Given the description of an element on the screen output the (x, y) to click on. 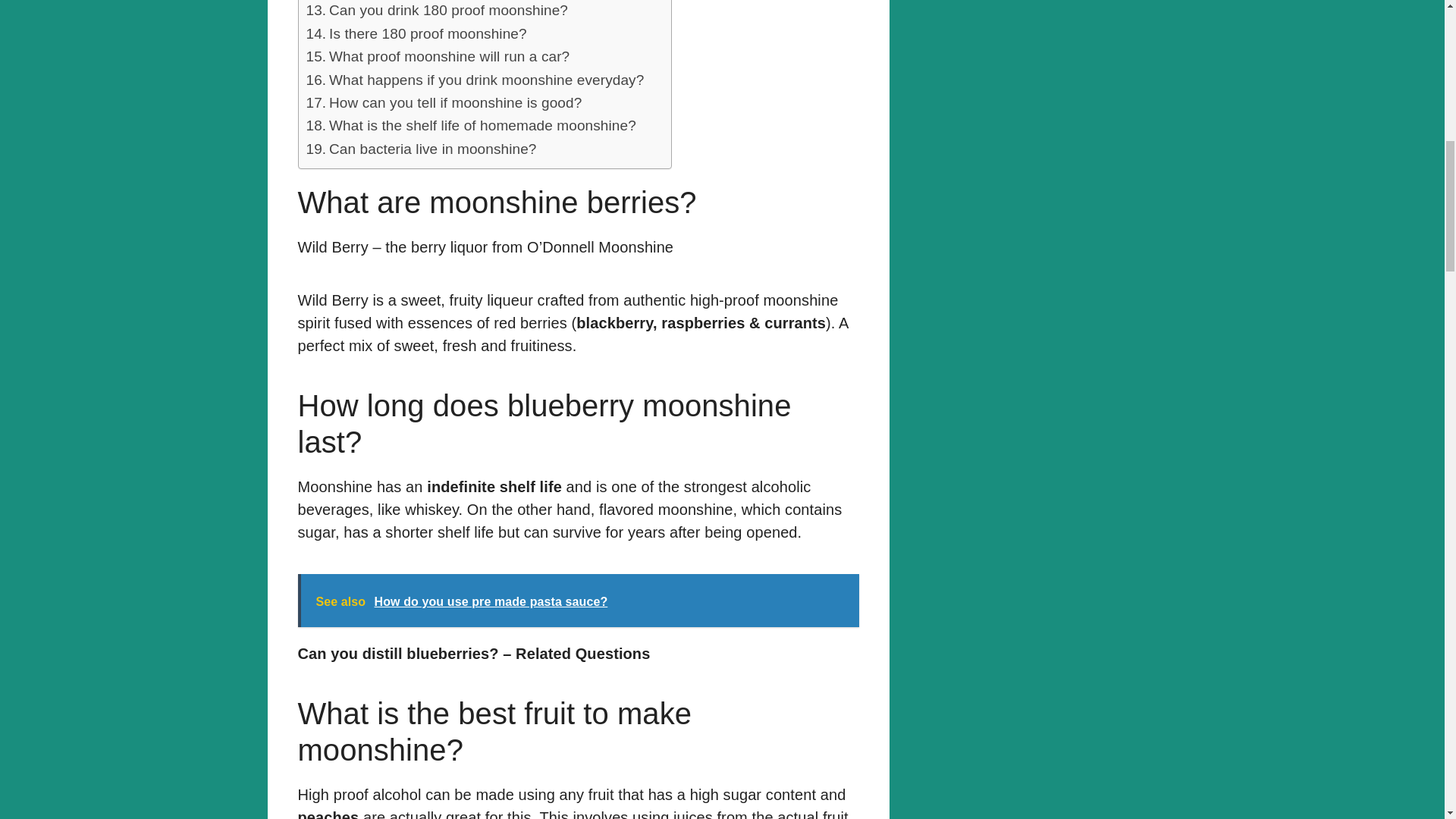
How can you tell if moonshine is good? (443, 102)
Is there 180 proof moonshine? (416, 33)
See also  How do you use pre made pasta sauce? (578, 600)
What happens if you drink moonshine everyday? (475, 79)
What is the shelf life of homemade moonshine? (470, 125)
Can you drink 180 proof moonshine? (437, 11)
Can bacteria live in moonshine? (421, 149)
What proof moonshine will run a car? (437, 56)
